Given the description of an element on the screen output the (x, y) to click on. 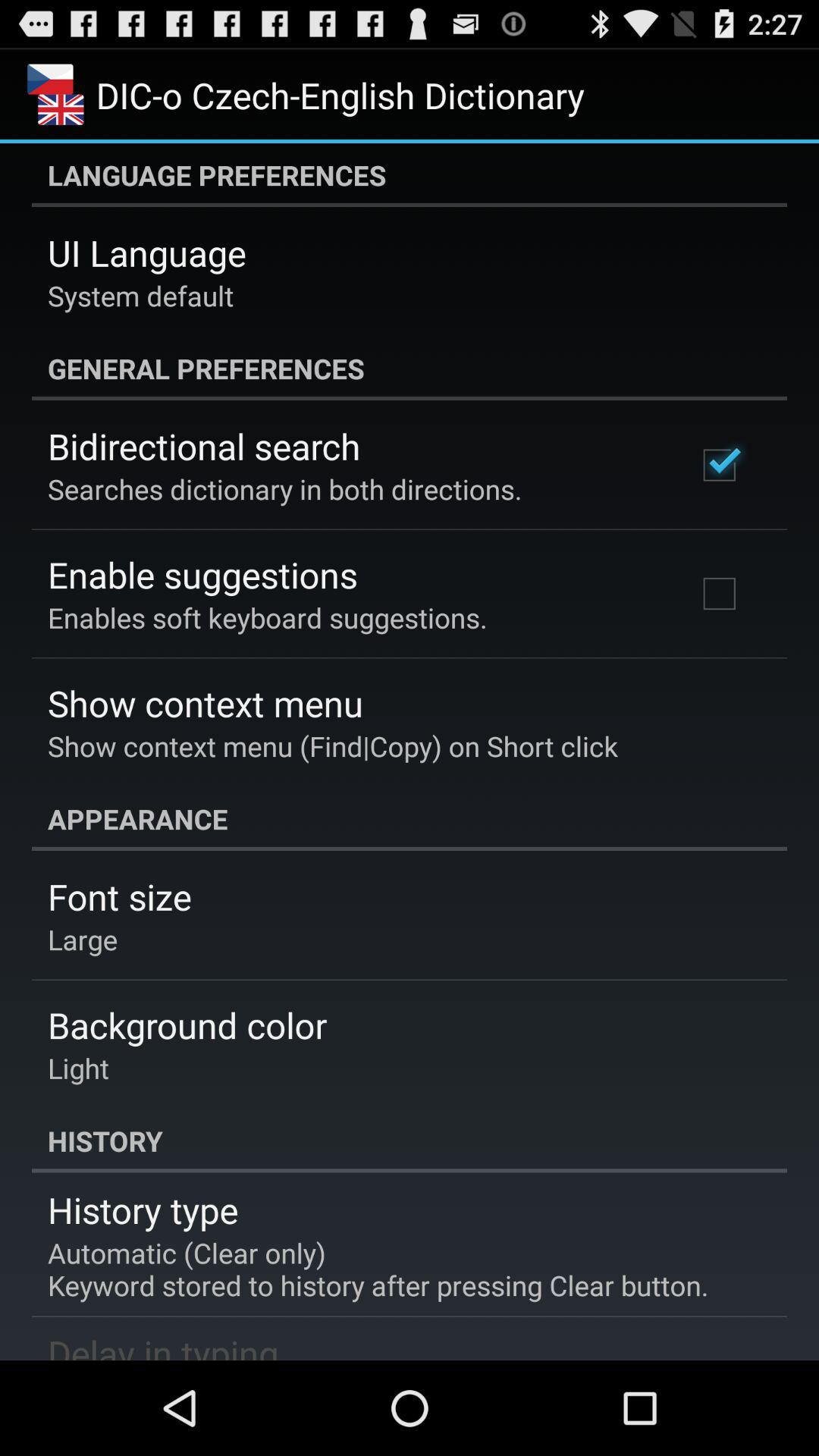
swipe to general preferences icon (409, 368)
